Given the description of an element on the screen output the (x, y) to click on. 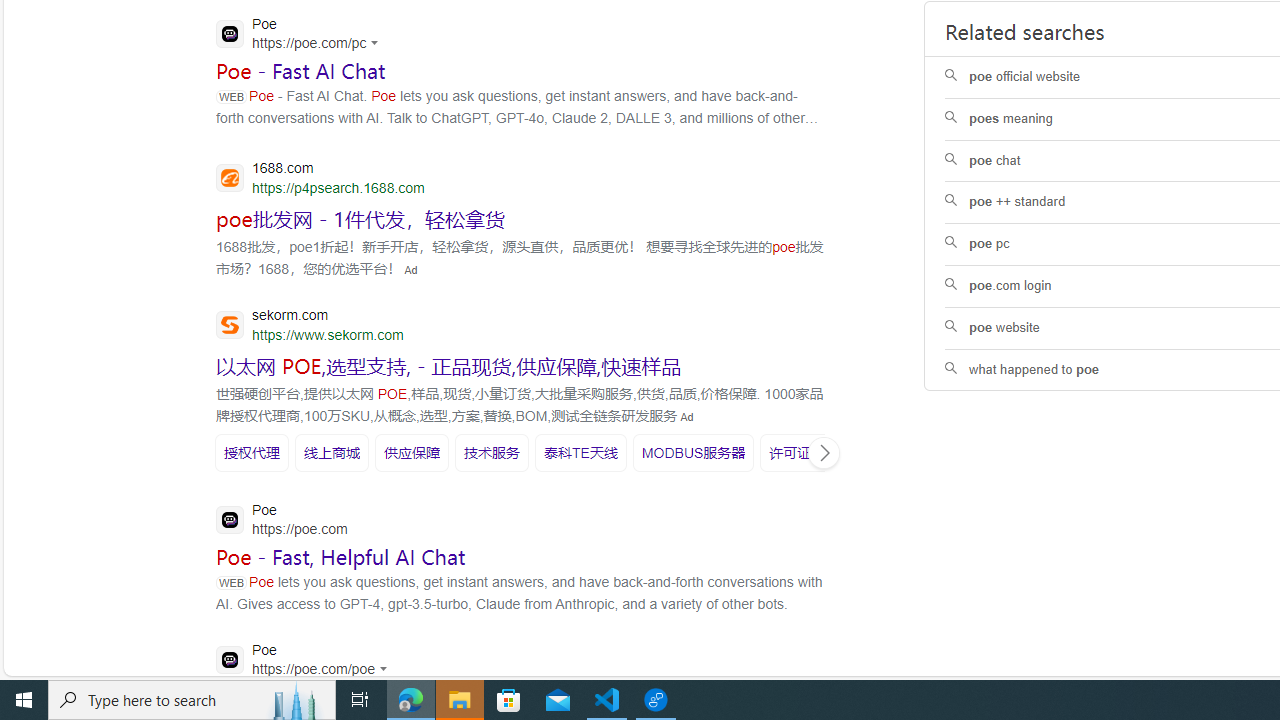
SERP,5596 (331, 452)
Actions for this site (385, 668)
SERP,5600 (693, 452)
SERP,5592 (449, 365)
SERP,5601 (804, 452)
SERP,5595 (252, 452)
Global web icon (229, 660)
SERP,5598 (491, 452)
SERP,5599 (580, 452)
SERP,5597 (412, 452)
